Given the description of an element on the screen output the (x, y) to click on. 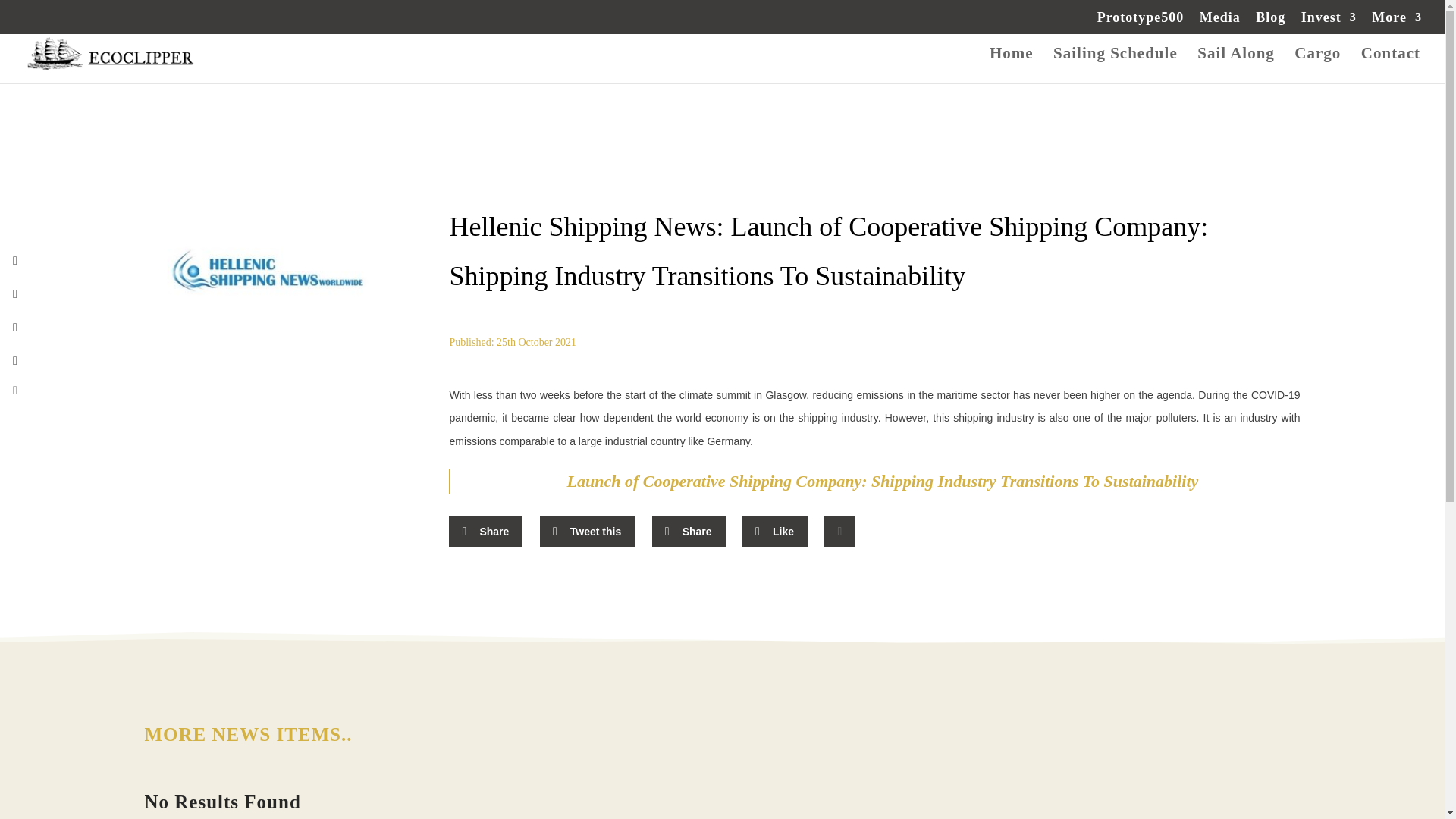
Tweet this (587, 531)
Share (688, 531)
Share (485, 531)
Cargo (1317, 65)
Sailing Schedule (1114, 65)
Blog (1270, 22)
Invest (1328, 22)
Contact (1391, 65)
Home (1011, 65)
